Given the description of an element on the screen output the (x, y) to click on. 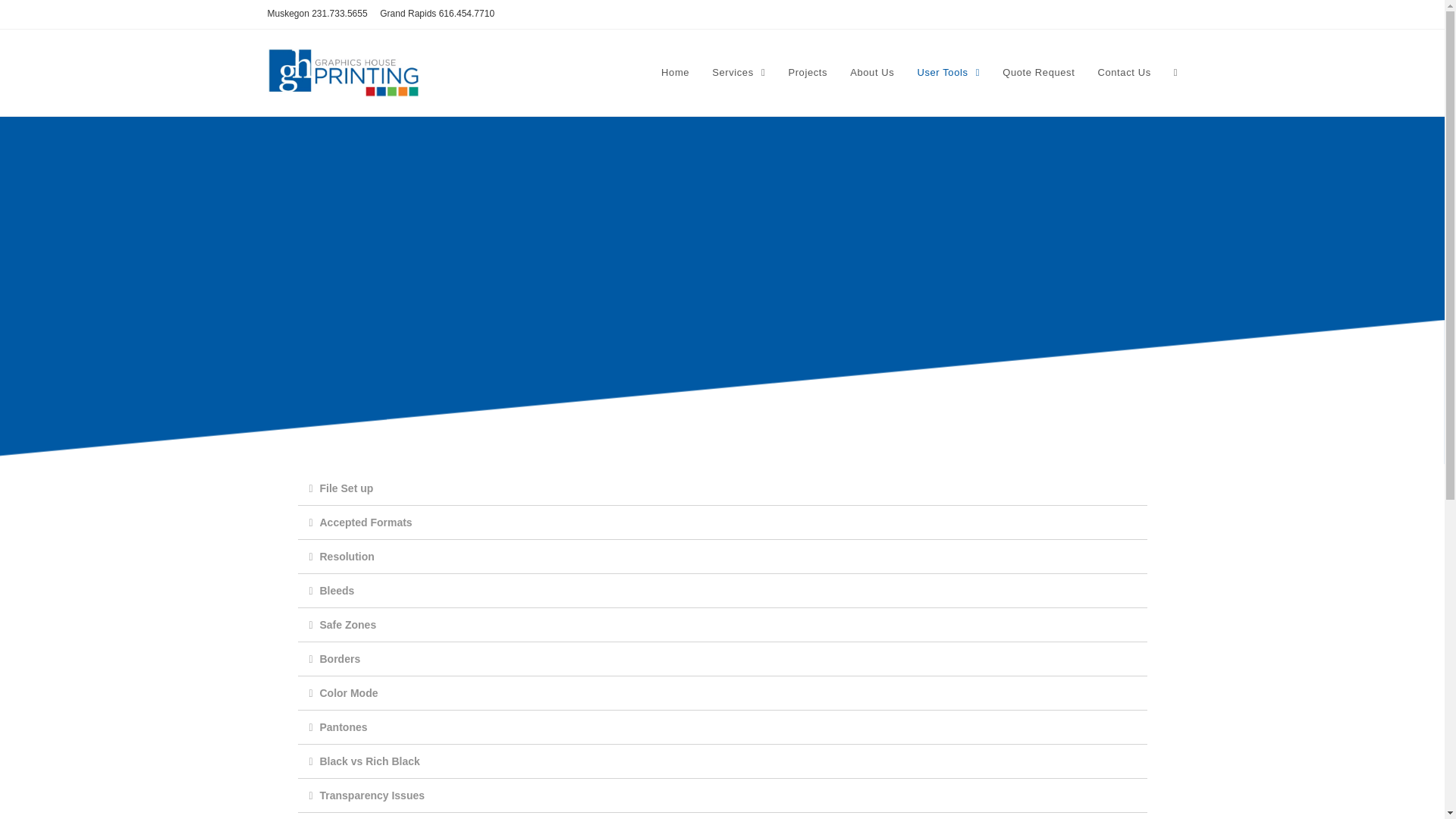
Quote Request (1038, 72)
Safe Zones (348, 624)
Transparency Issues (372, 795)
User Tools (948, 72)
Home (674, 72)
Bleeds (337, 590)
Muskegon 231.733.5655 (316, 13)
File Set up (347, 488)
Accepted Formats (366, 522)
About Us (871, 72)
Services (738, 72)
Color Mode (349, 693)
Contact Us (1123, 72)
Projects (807, 72)
Borders (340, 658)
